Given the description of an element on the screen output the (x, y) to click on. 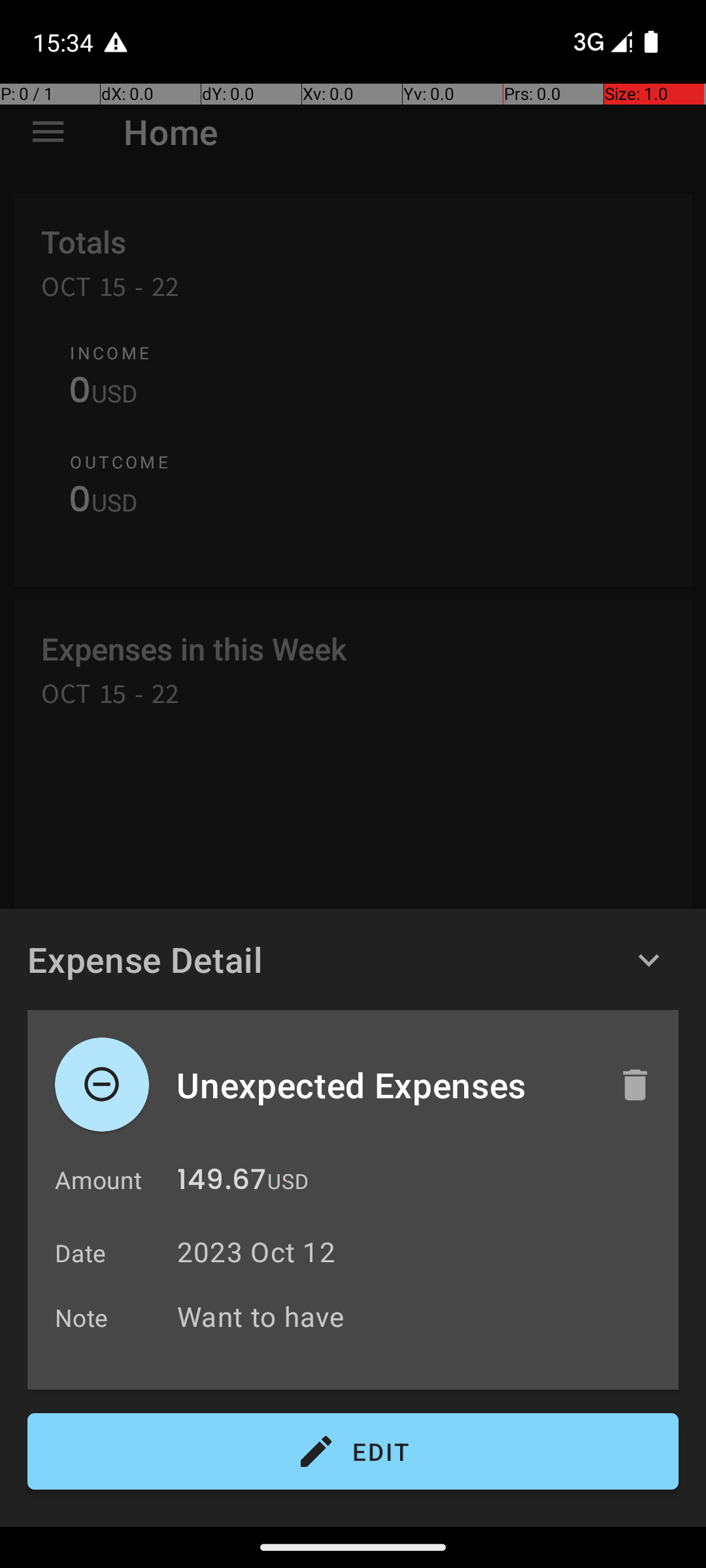
Unexpected Expenses Element type: android.widget.TextView (383, 1084)
149.67 Element type: android.widget.TextView (221, 1182)
Want to have Element type: android.widget.TextView (420, 1315)
